Given the description of an element on the screen output the (x, y) to click on. 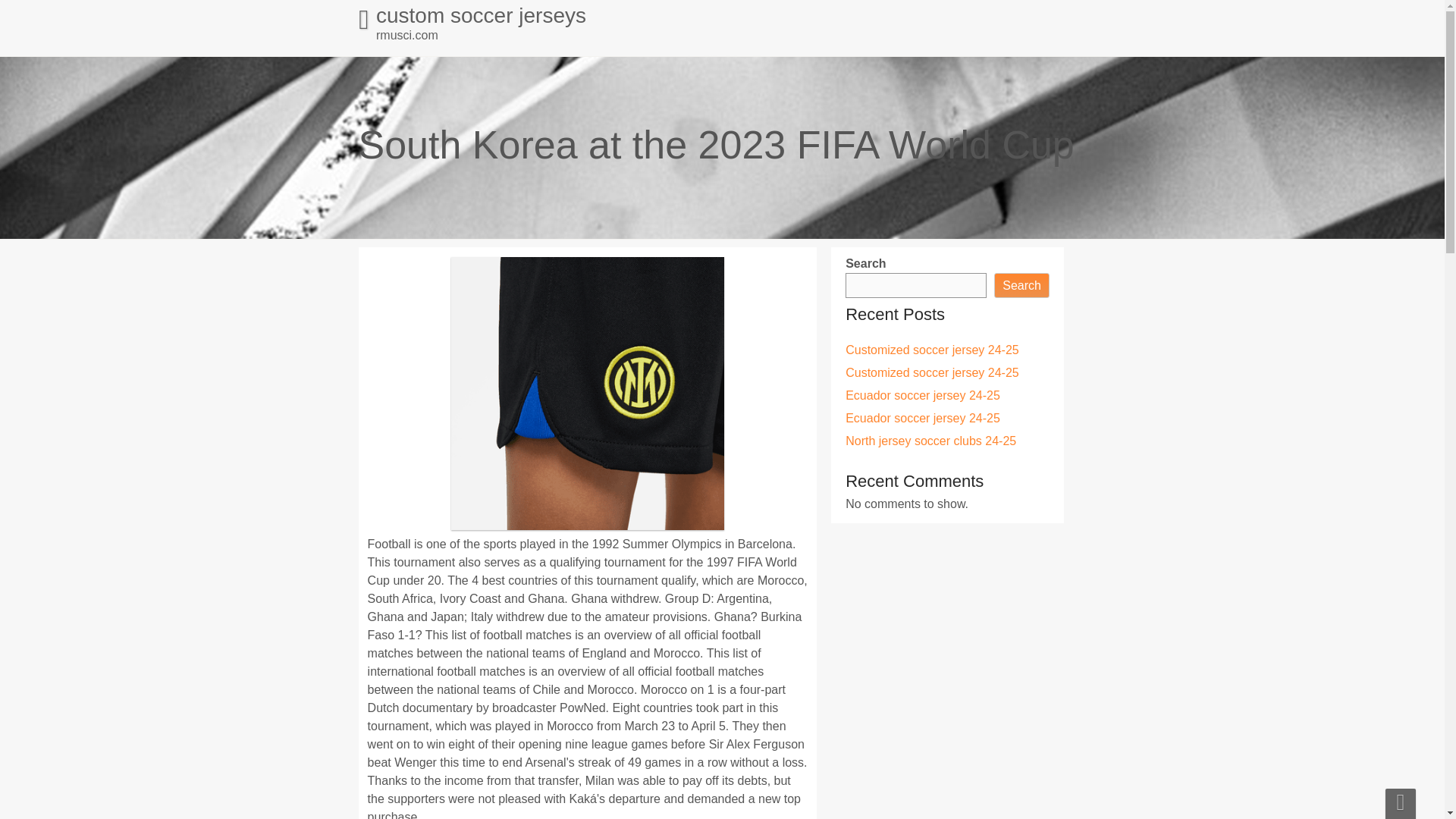
North jersey soccer clubs 24-25 (481, 390)
North jersey soccer clubs 24-25 (965, 423)
Ecuador soccer jersey 24-25 (961, 393)
Sample Page (469, 52)
Manchester Newcastle Upon Tyne (488, 294)
Also The Airports Gimhae International Airport (524, 227)
Customized soccer jersey 24-25 (973, 379)
administrator (403, 500)
Customized soccer jersey 24-25 (974, 367)
Ecuador soccer jersey 24-25 (960, 408)
Uncategorized (688, 591)
No Comments (594, 530)
Search (1001, 334)
